Given the description of an element on the screen output the (x, y) to click on. 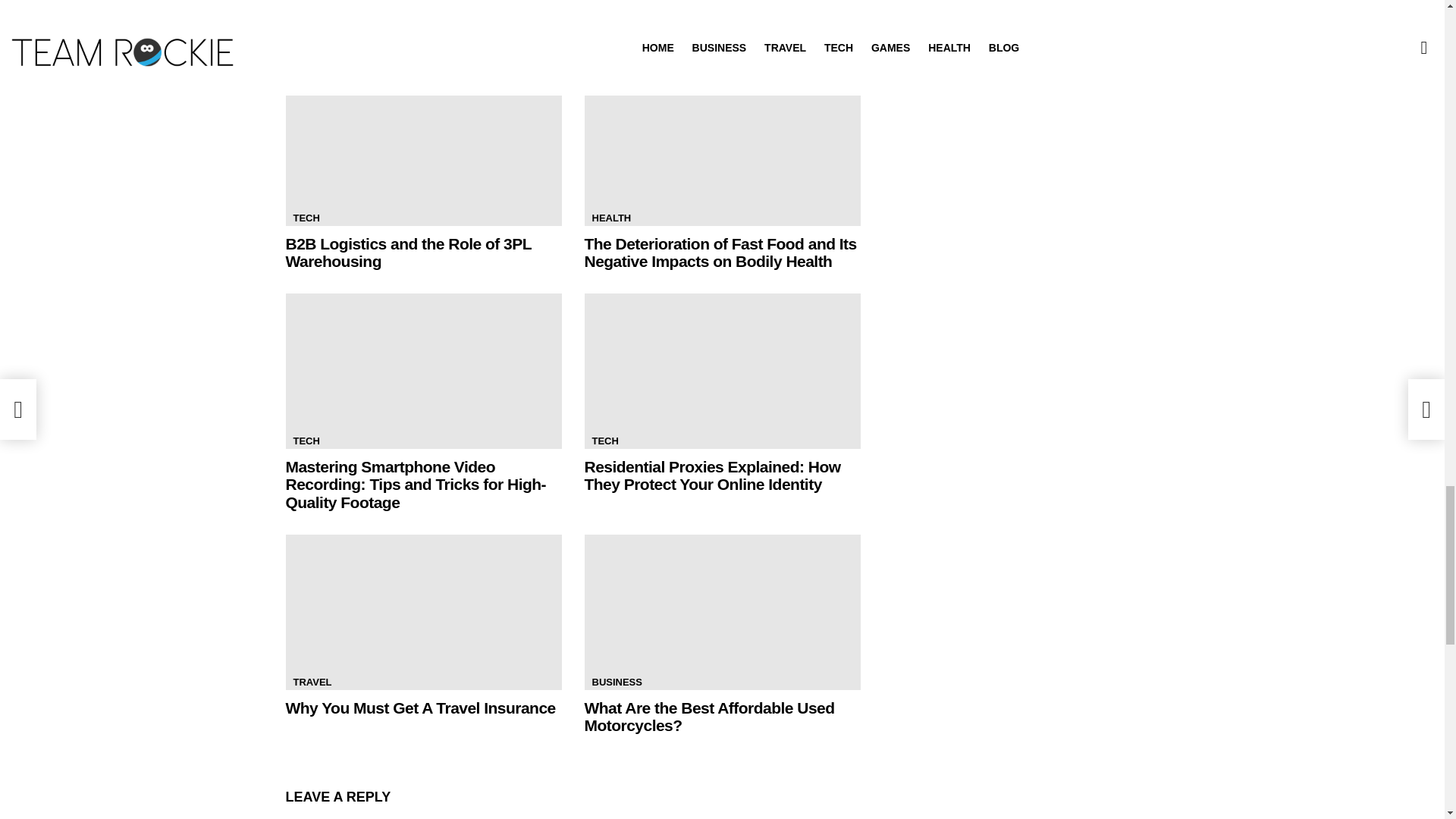
Trending (307, 78)
TECH (305, 218)
B2B Logistics and the Role of 3PL Warehousing (422, 148)
What Are the Best Affordable Used Motorcycles? (721, 612)
TECH (604, 441)
Trending (307, 78)
HEALTH (611, 218)
TECH (305, 441)
B2B Logistics and the Role of 3PL Warehousing (408, 253)
Why You Must Get A Travel Insurance (422, 612)
